Given the description of an element on the screen output the (x, y) to click on. 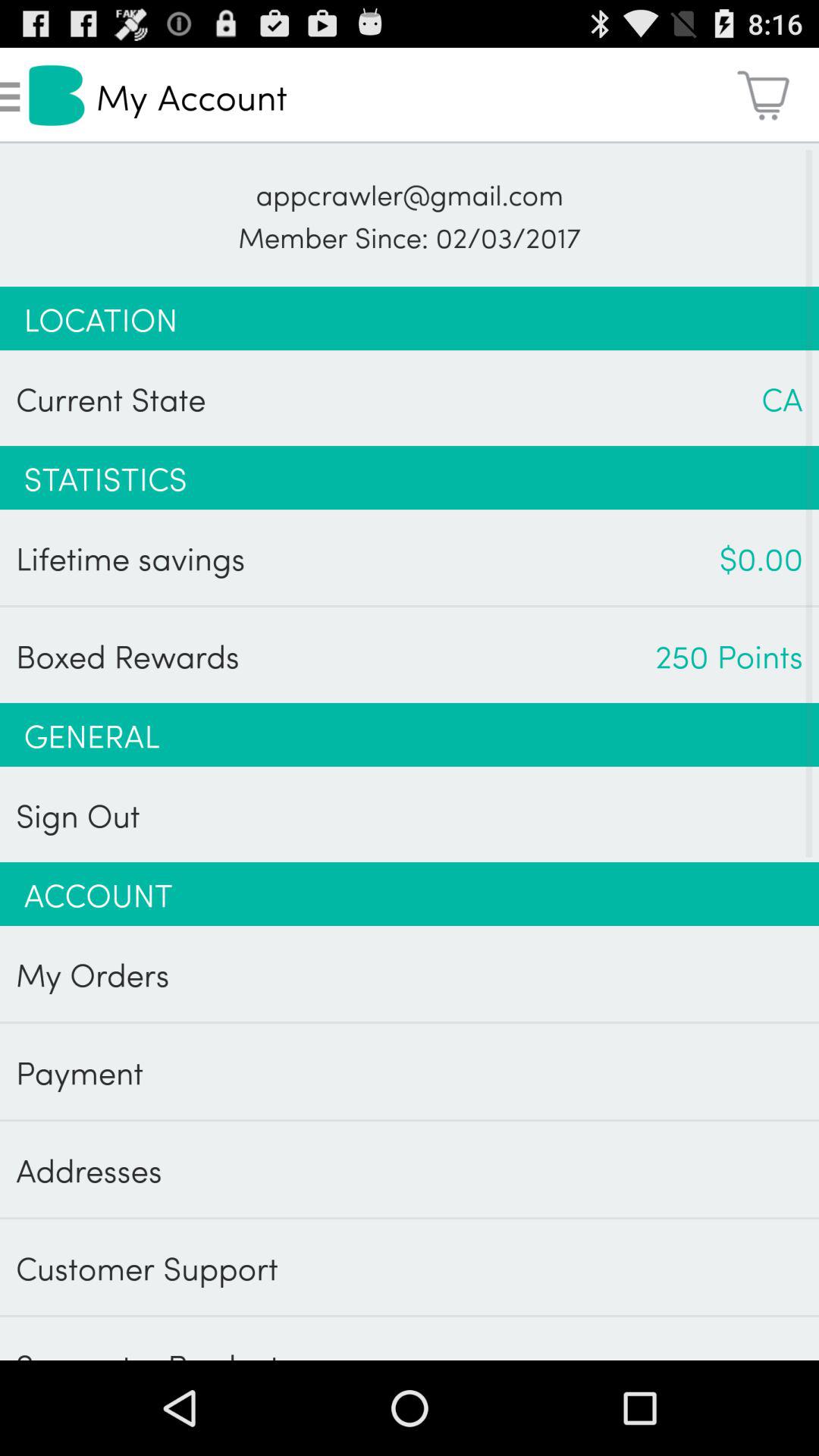
turn on the location item (409, 318)
